Given the description of an element on the screen output the (x, y) to click on. 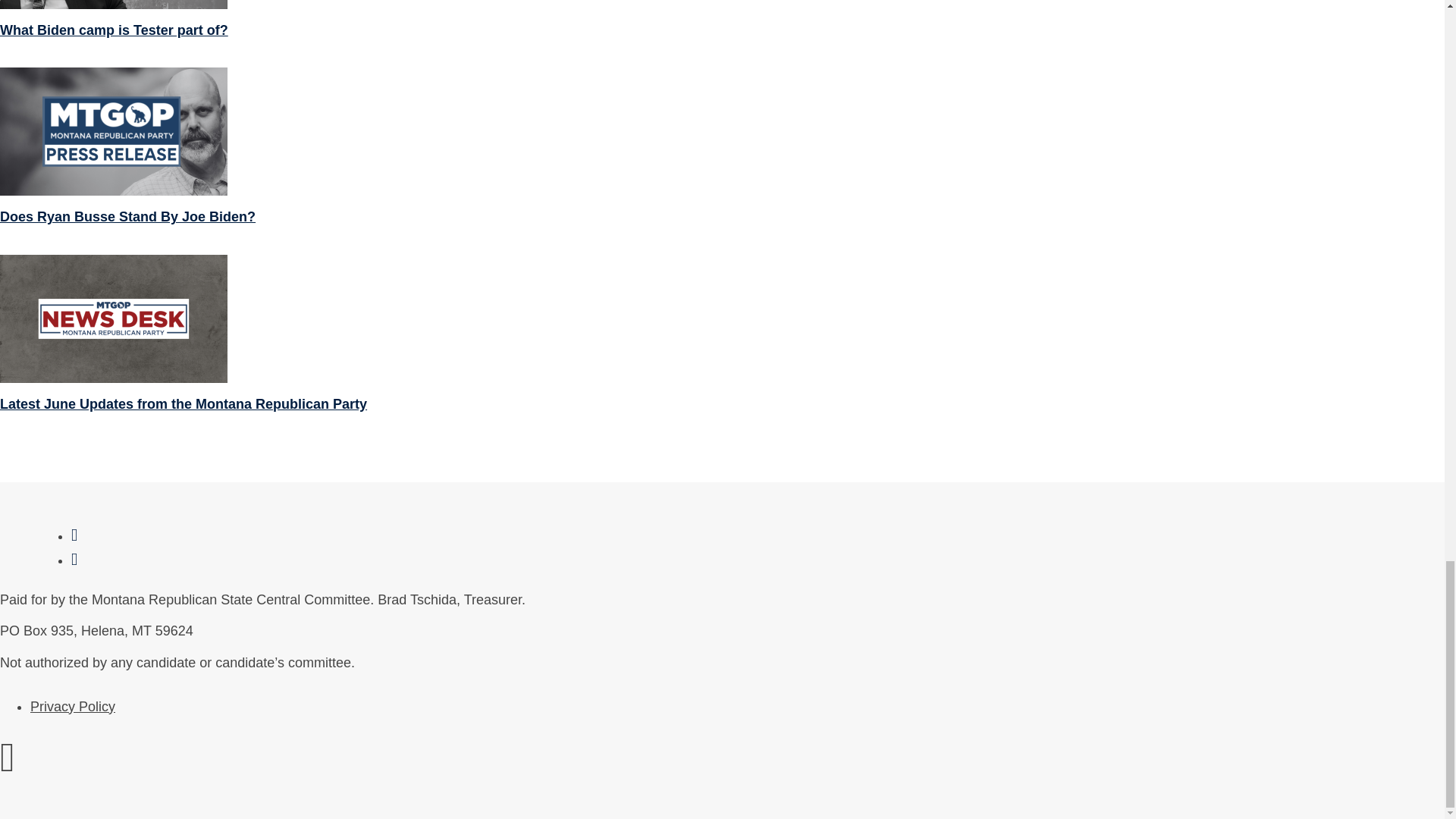
Back to top (7, 766)
